Given the description of an element on the screen output the (x, y) to click on. 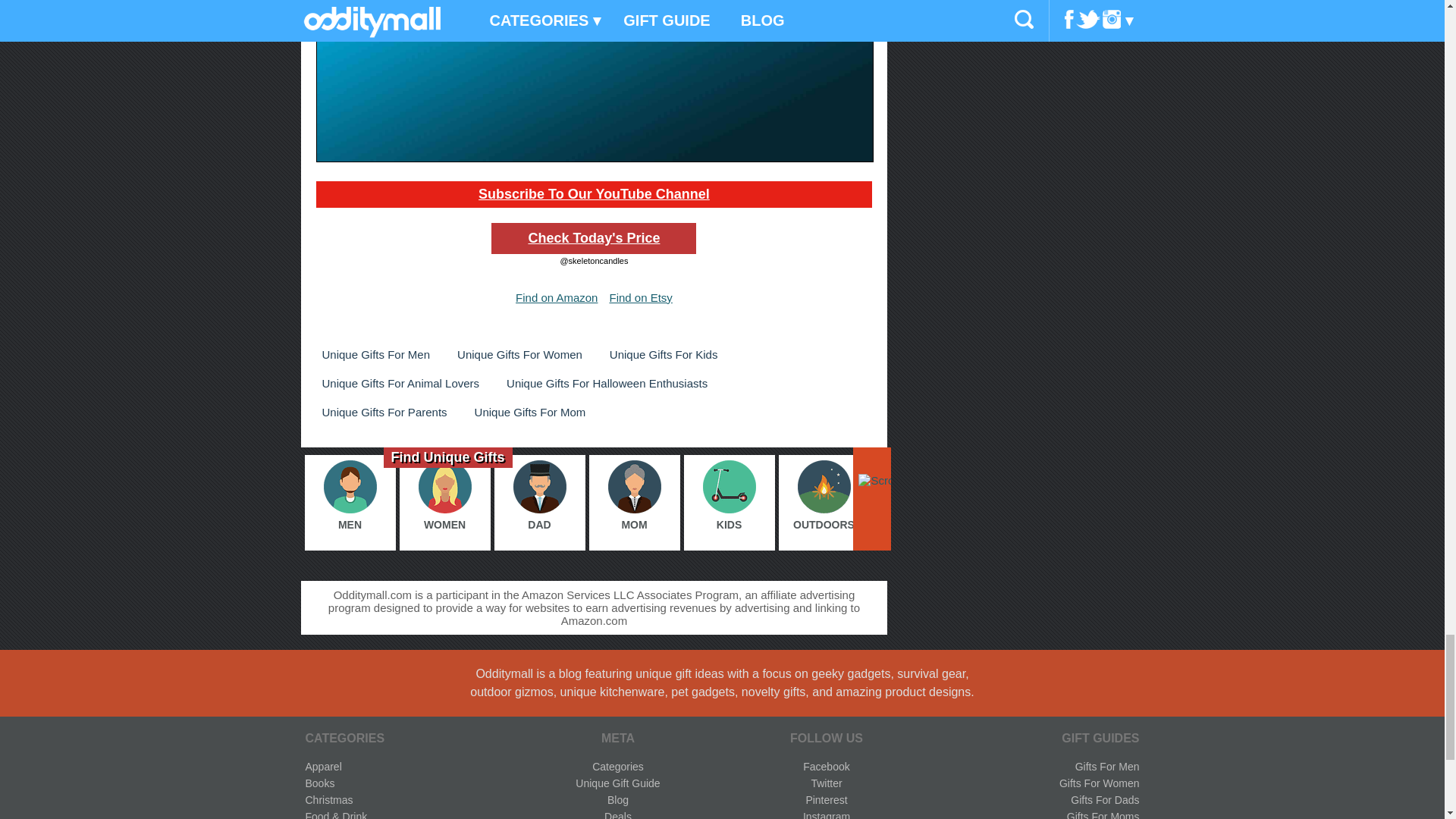
Unique Gifts For Women (519, 354)
Unique Gifts For Women (519, 354)
Find on Etsy (639, 297)
Find on Amazon (555, 297)
Unique Gifts For Kids (663, 354)
Unique Gifts For Mom (530, 411)
Check Today's Price (593, 237)
Unique Gifts For Halloween Enthusiasts (606, 383)
Unique Gifts For Men (375, 354)
Subscribe To Our YouTube Channel (593, 194)
Unique Gifts For Men (375, 354)
Unique Gifts For Parents (383, 411)
Unique Gifts For Animal Lovers (399, 383)
